Given the description of an element on the screen output the (x, y) to click on. 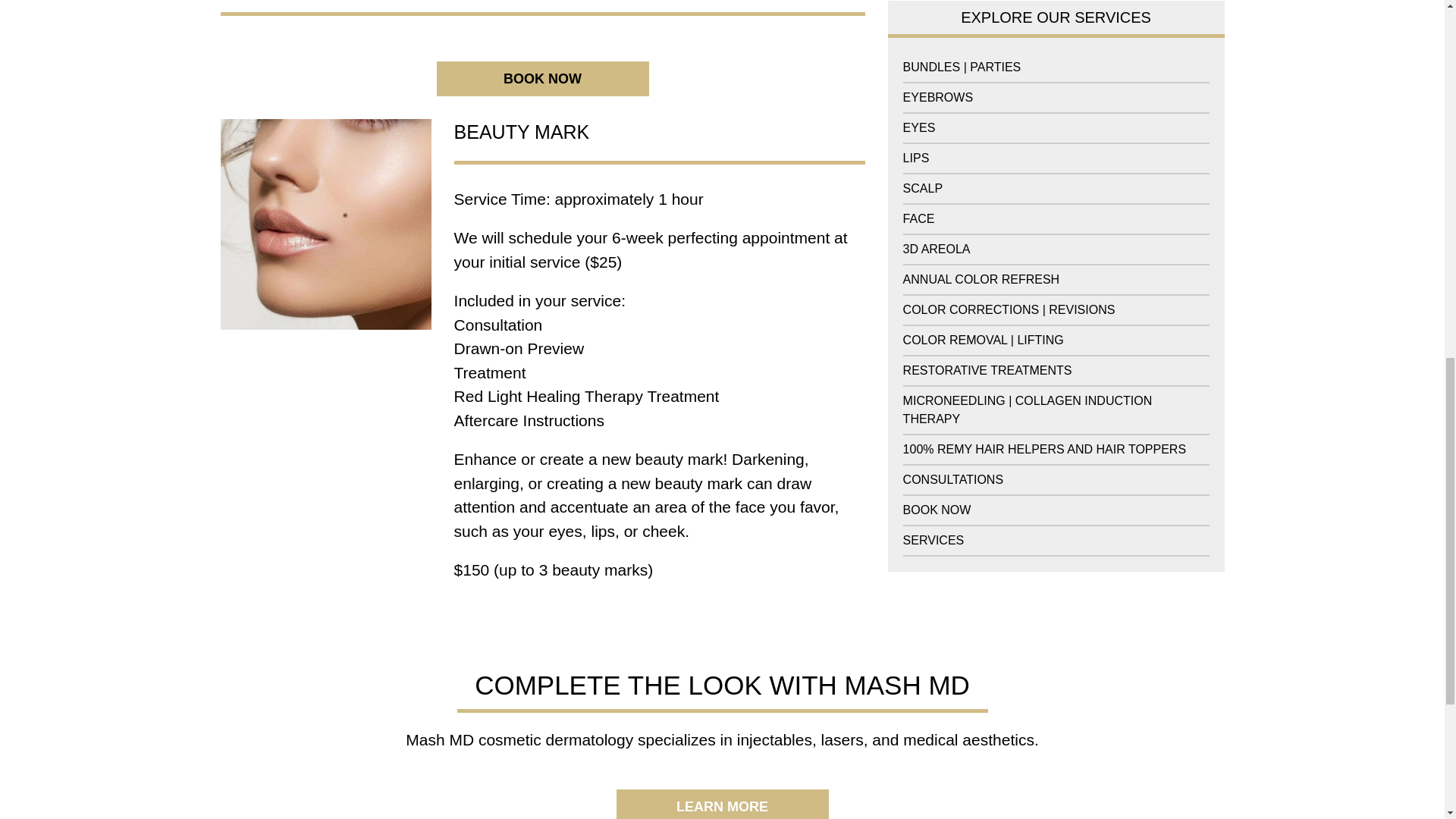
BOOK NOW (542, 77)
LIPS (916, 117)
EYES (919, 86)
EYEBROWS (937, 56)
